Given the description of an element on the screen output the (x, y) to click on. 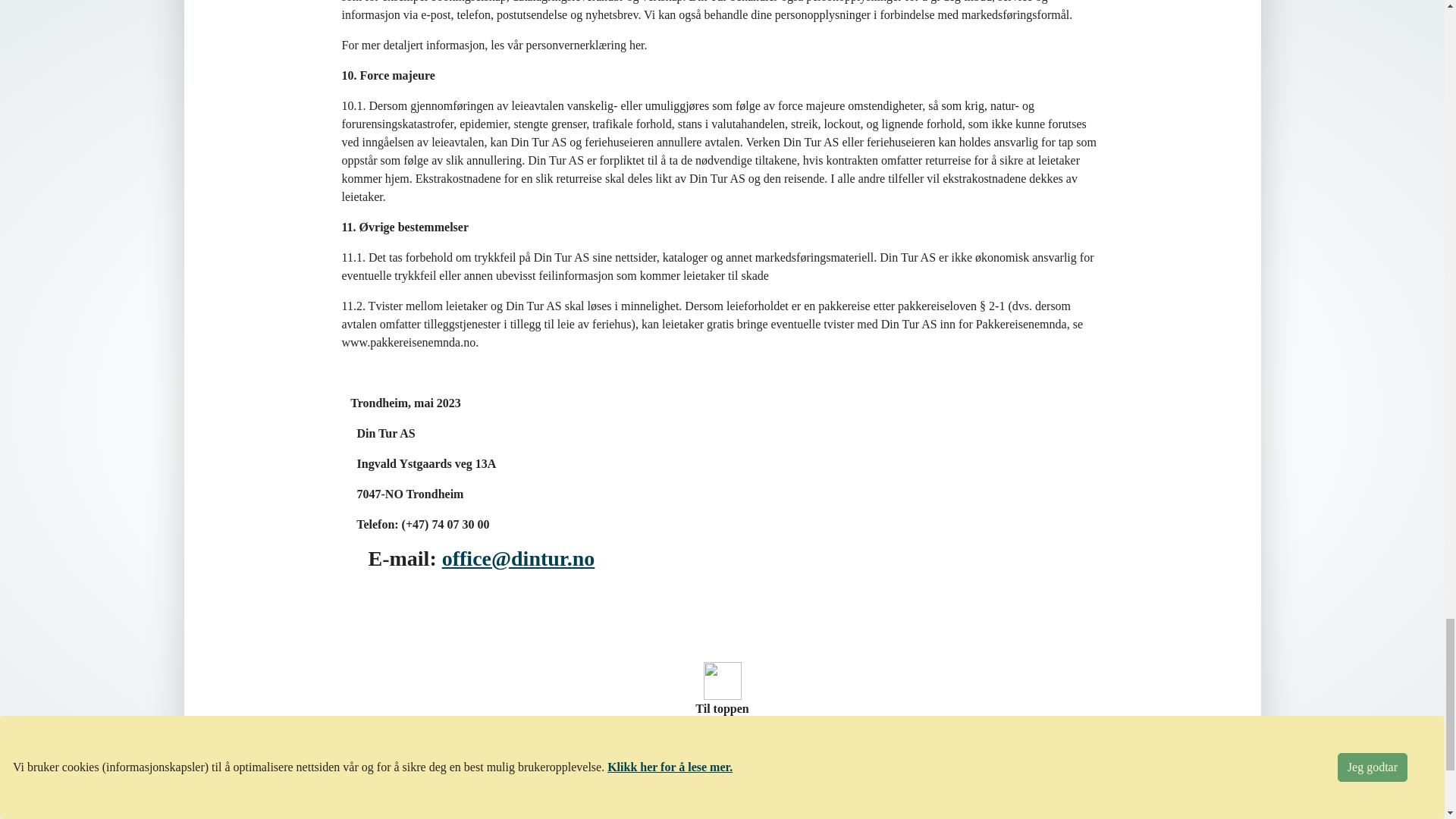
Ansatte (956, 815)
Til toppen (721, 689)
Kontakt oss (966, 797)
